Given the description of an element on the screen output the (x, y) to click on. 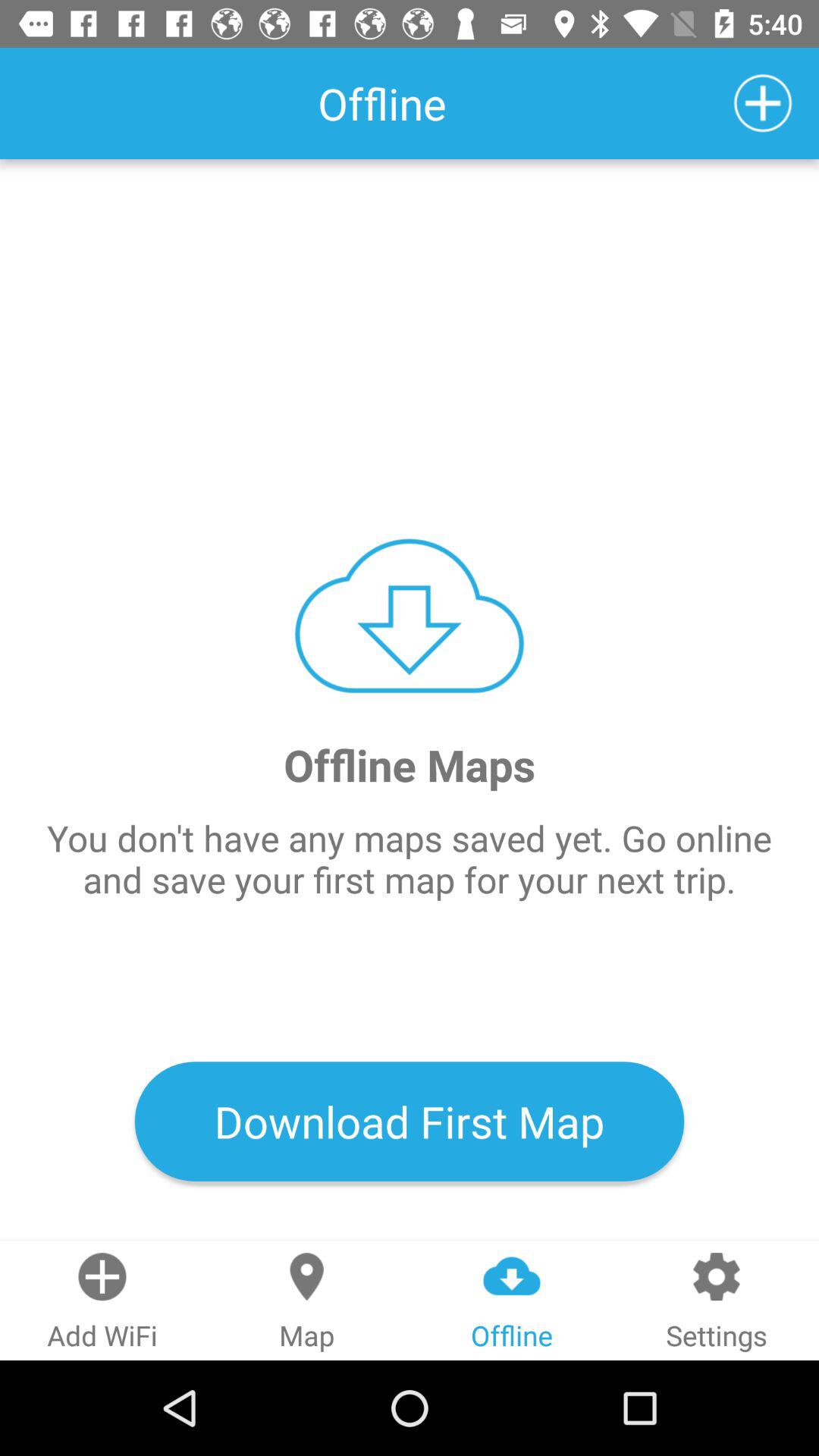
select icon at the top right corner (762, 103)
